Given the description of an element on the screen output the (x, y) to click on. 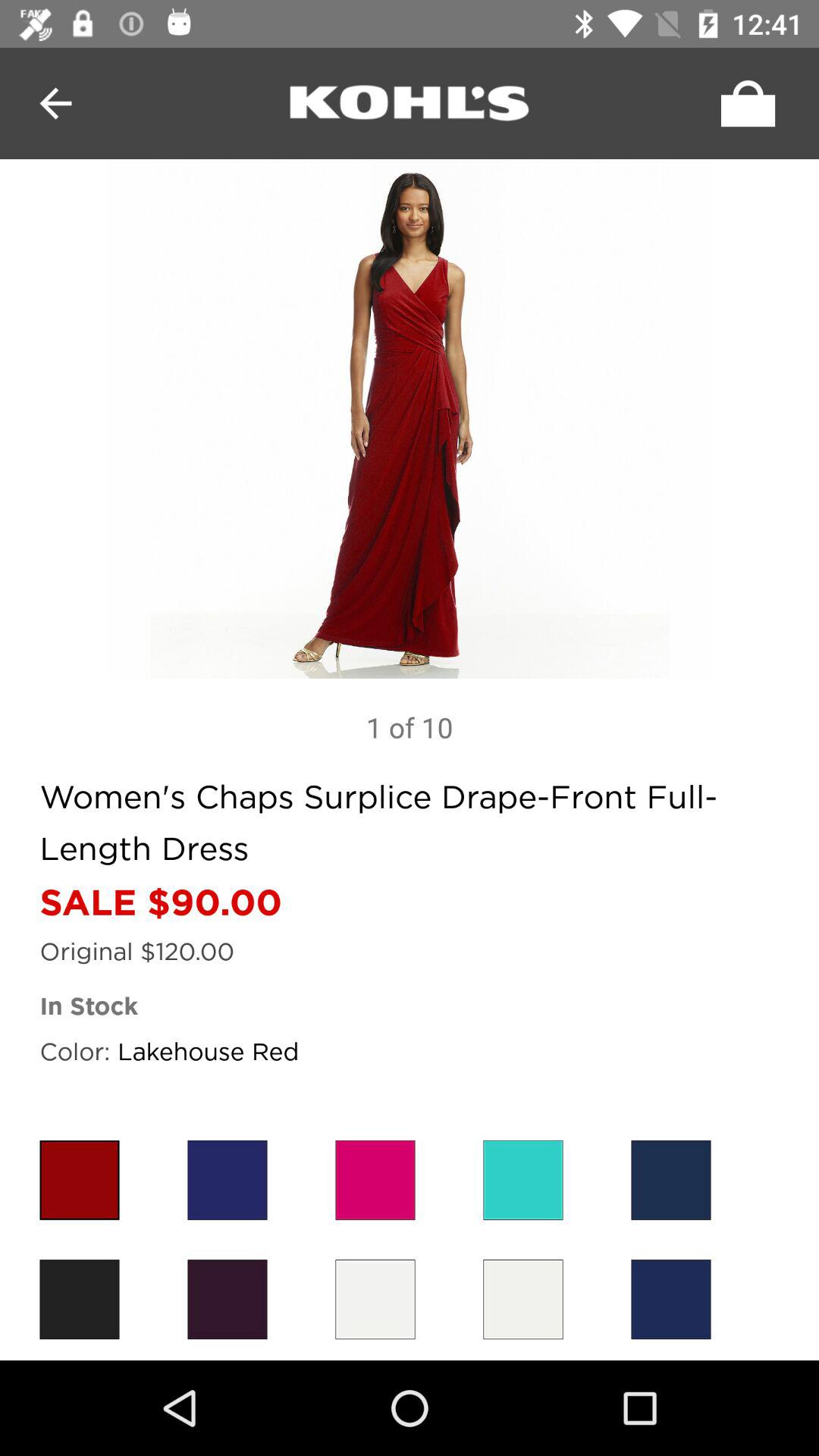
choose the option (523, 1299)
